Given the description of an element on the screen output the (x, y) to click on. 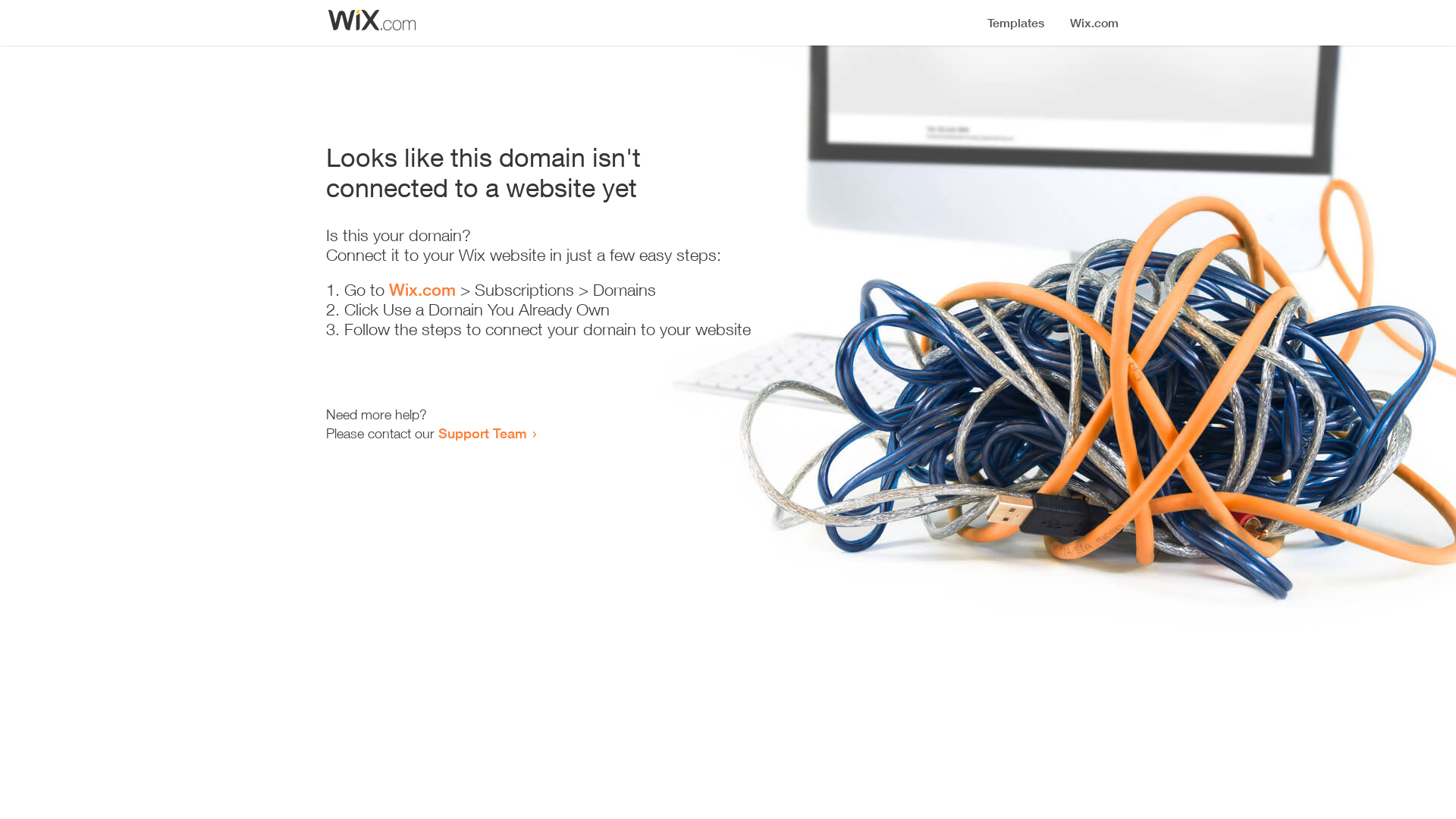
Wix.com Element type: text (422, 289)
Support Team Element type: text (482, 432)
